Given the description of an element on the screen output the (x, y) to click on. 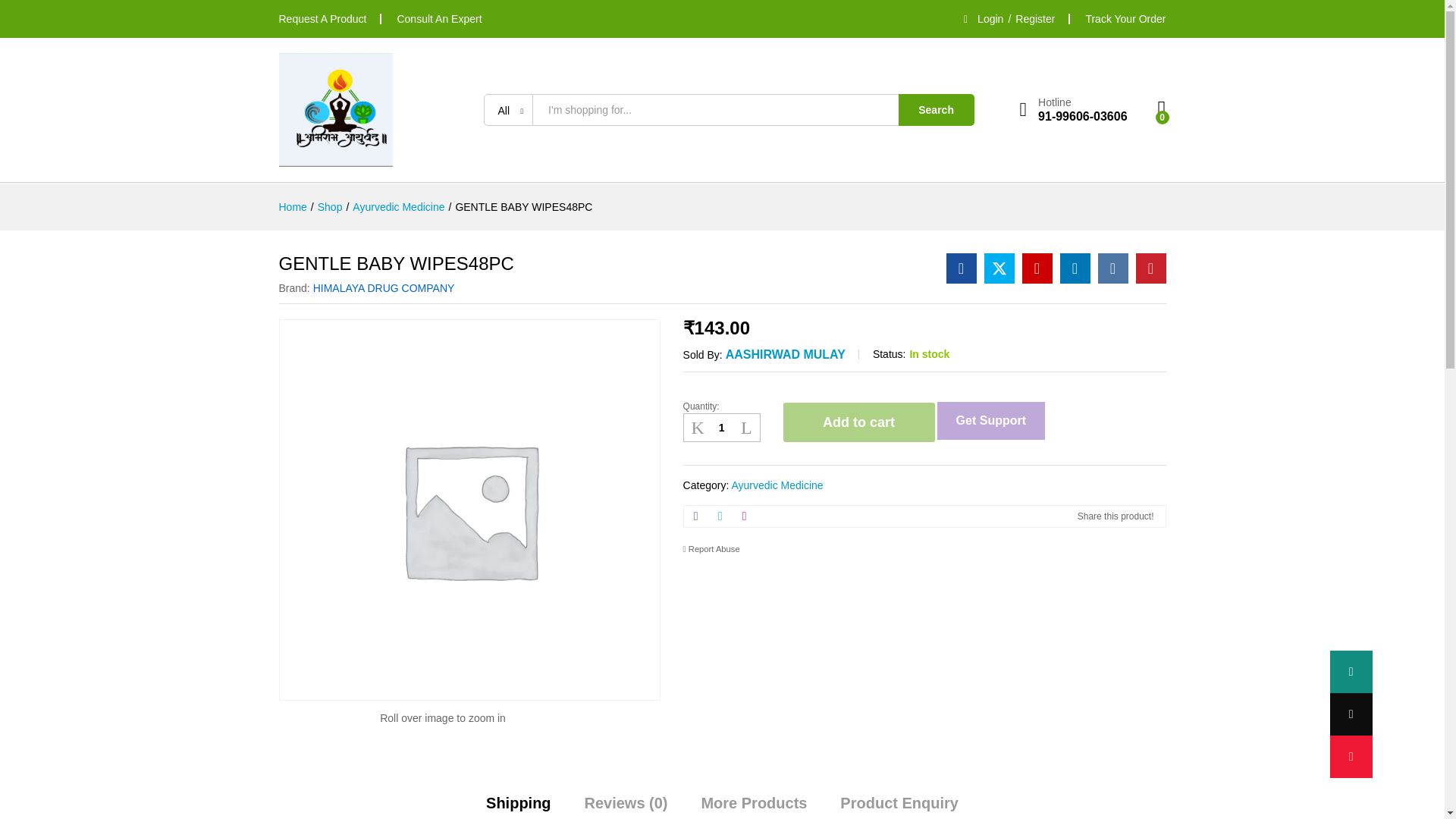
AASHIRWAD MULAY (785, 354)
More Products (753, 802)
Request A Product (322, 19)
Ayurvedic Medicine (776, 485)
1 (721, 427)
Shipping (518, 802)
Register (1034, 18)
Share GENTLE BABY WIPES48PC on Email (744, 516)
Product Enquiry (899, 802)
Add to cart (858, 422)
Share GENTLE BABY WIPES48PC on Facebook (695, 516)
Consult An Expert (438, 19)
GENTLE BABY WIPES48PC (523, 206)
Report Abuse (710, 549)
Qty (721, 427)
